Given the description of an element on the screen output the (x, y) to click on. 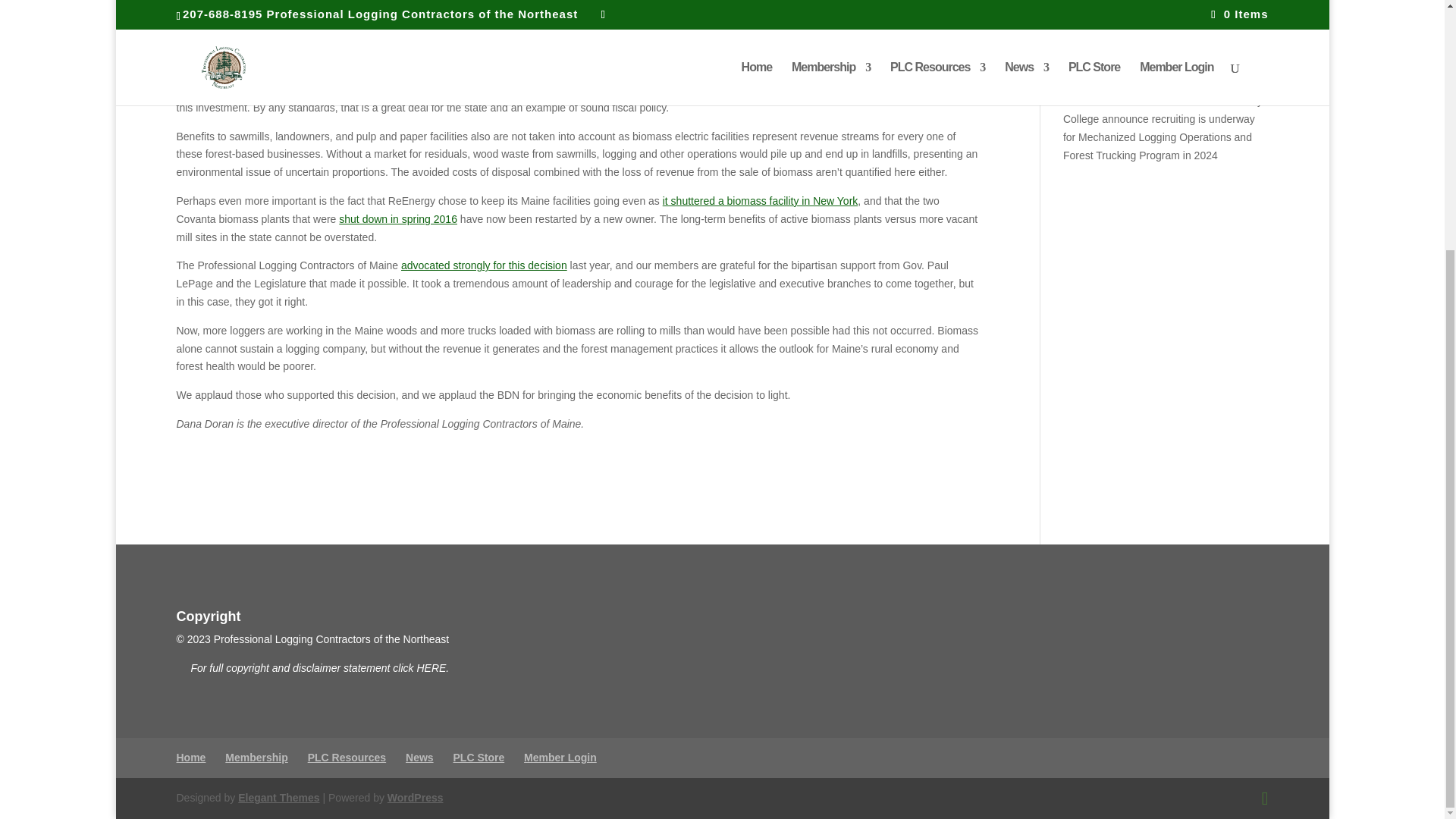
Premium WordPress Themes (278, 797)
